Given the description of an element on the screen output the (x, y) to click on. 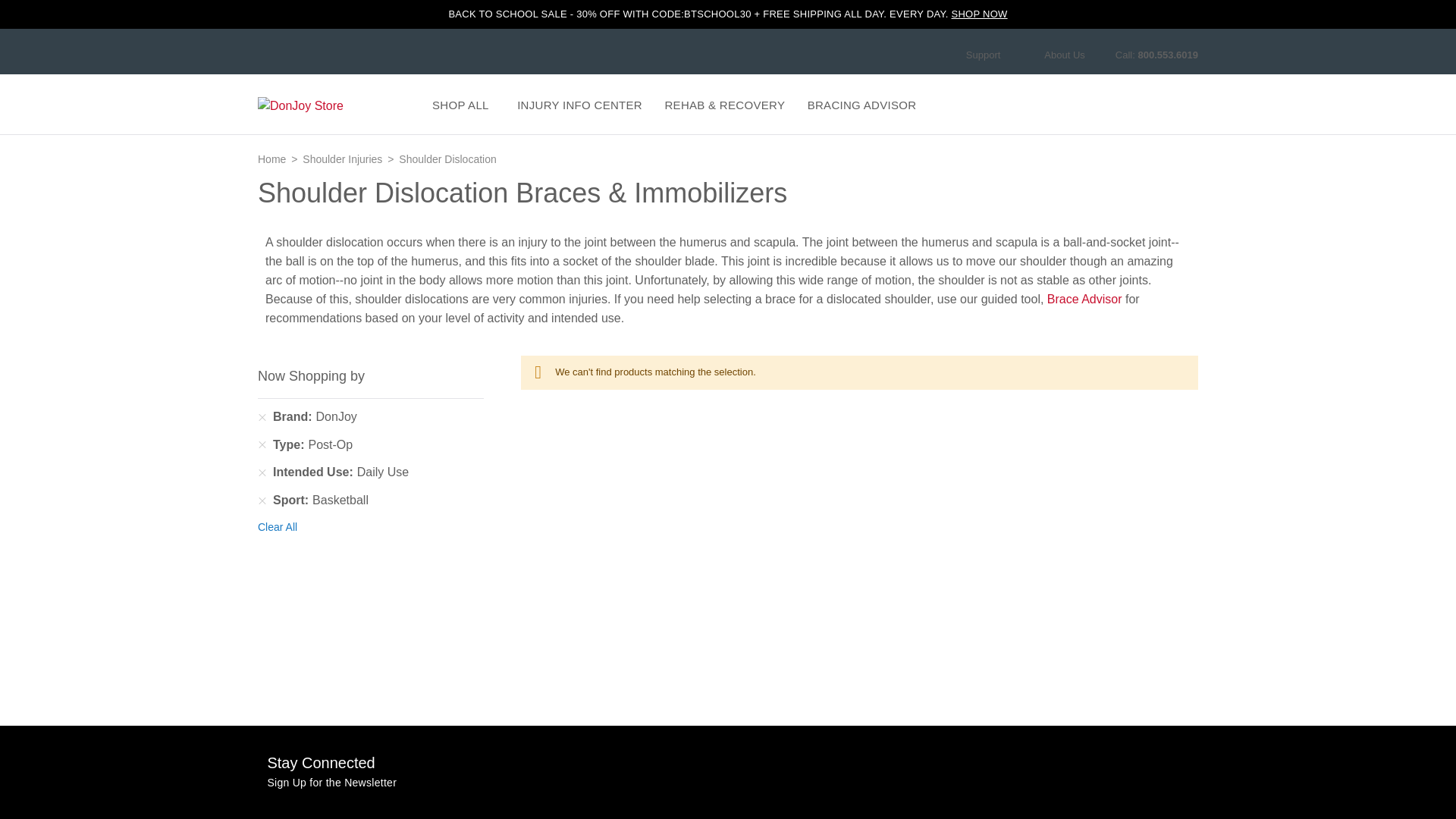
Remove Type Post-Op (261, 444)
About Us (1063, 55)
DonJoy Store (322, 106)
Remove Brand DonJoy (261, 416)
Support (990, 55)
800.553.6019 (1167, 54)
DonJoy Store (322, 106)
Remove Intended Use Daily Use (261, 472)
Remove Sport Basketball (261, 501)
Go to Home Page (272, 159)
SHOP NOW (978, 13)
